Given the description of an element on the screen output the (x, y) to click on. 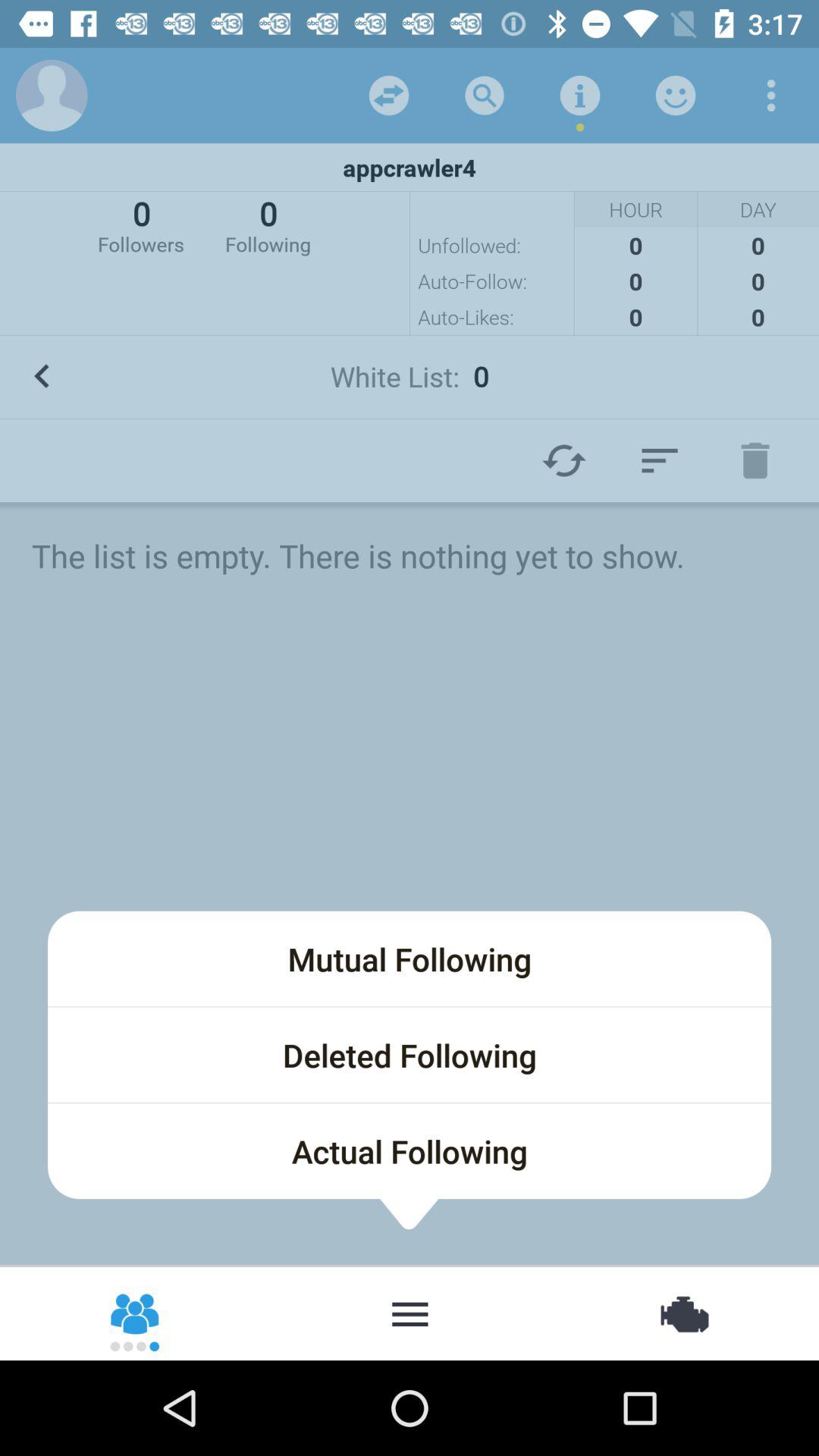
go to your profile (51, 95)
